Given the description of an element on the screen output the (x, y) to click on. 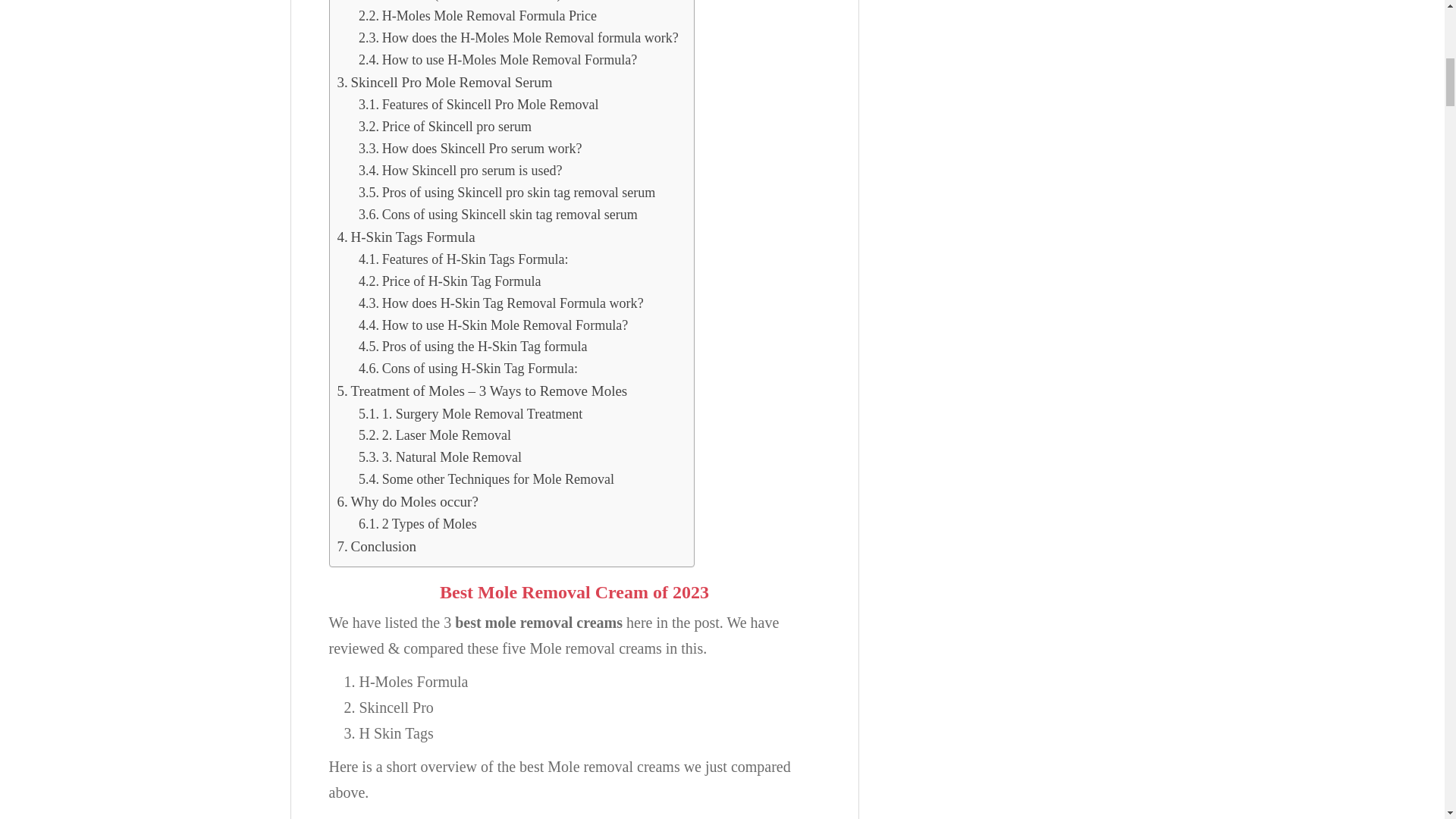
Price of H-Skin Tag Formula (449, 281)
How to use H-Moles Mole Removal Formula? (497, 60)
H-Skin Tags Formula  (407, 237)
Price of Skincell pro serum (444, 127)
Skincell Pro Mole Removal Serum (443, 82)
Features of H-Skin Tags Formula: (462, 259)
How does Skincell Pro serum work? (470, 148)
Features of Skincell Pro Mole Removal (478, 105)
Conclusion (376, 546)
How to use H-Skin Mole Removal Formula? (492, 325)
2. Laser Mole Removal (434, 435)
How does Skincell Pro serum work? (470, 148)
Why do Moles occur? (406, 501)
Some other Techniques for Mole Removal (486, 479)
H-Moles Mole Removal Formula Price (477, 15)
